Given the description of an element on the screen output the (x, y) to click on. 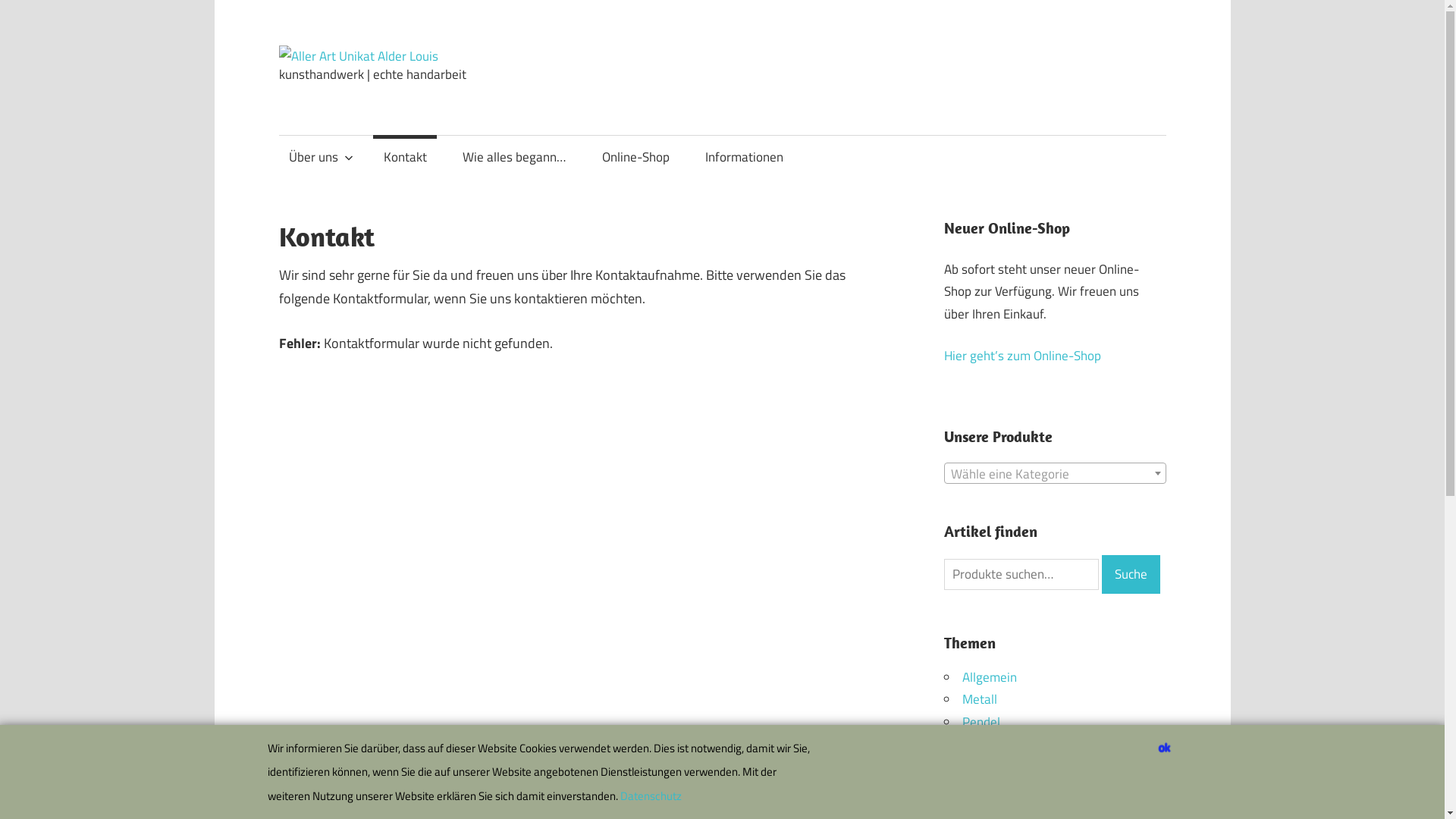
Metall Element type: text (979, 699)
Datenschutz Element type: text (650, 795)
Textil Element type: text (976, 744)
ok Element type: text (1164, 746)
Informationen Element type: text (744, 156)
Allgemein Element type: text (989, 677)
Kontakt Element type: text (404, 156)
Pendel Element type: text (981, 721)
Suche Element type: text (1130, 574)
Online-Shop Element type: text (635, 156)
